Given the description of an element on the screen output the (x, y) to click on. 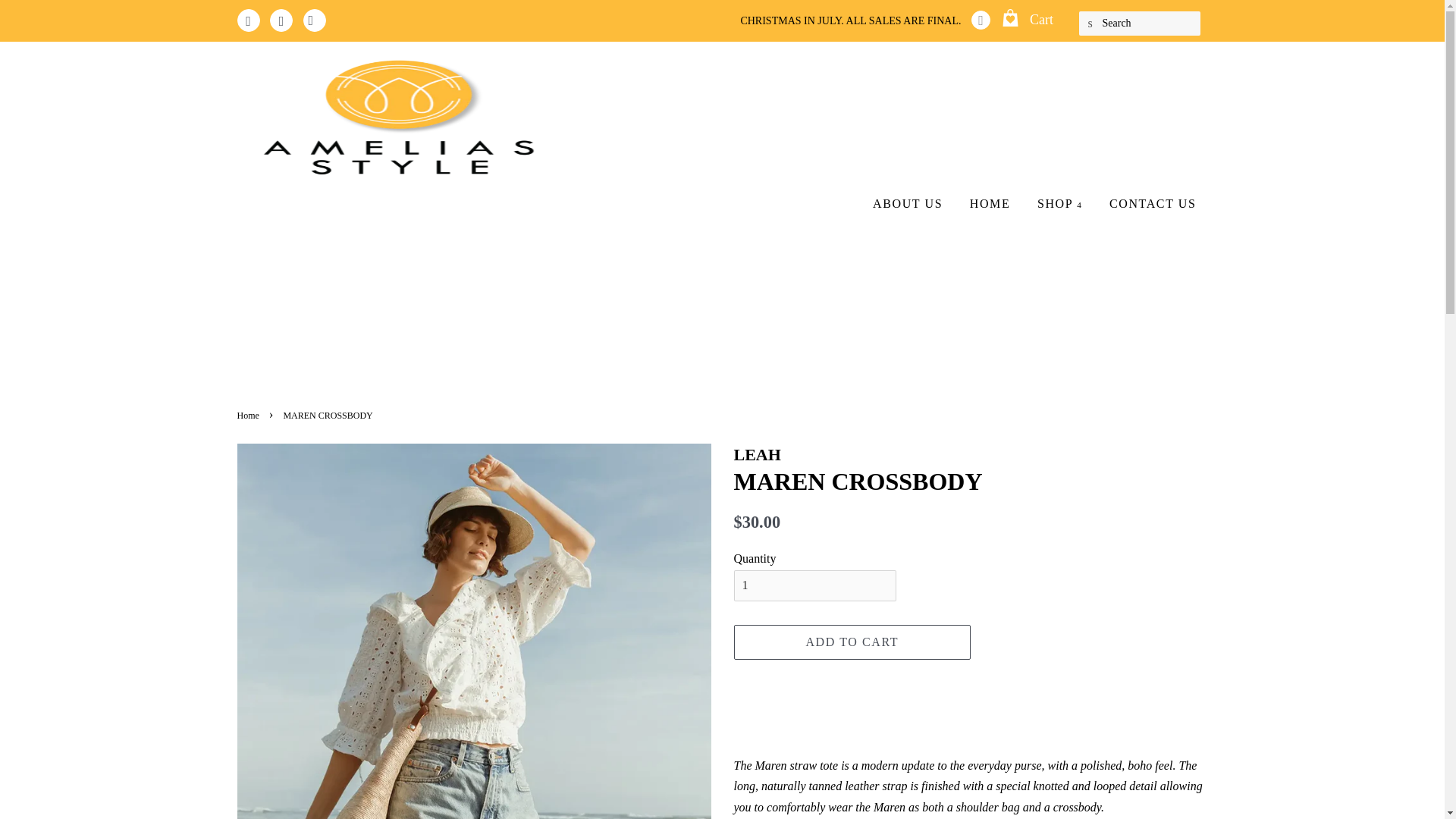
Back to the frontpage (248, 415)
Cart (1040, 19)
SEARCH (1090, 23)
HOME (990, 201)
ABOUT US (907, 201)
1 (814, 585)
SHOP (1060, 201)
